Given the description of an element on the screen output the (x, y) to click on. 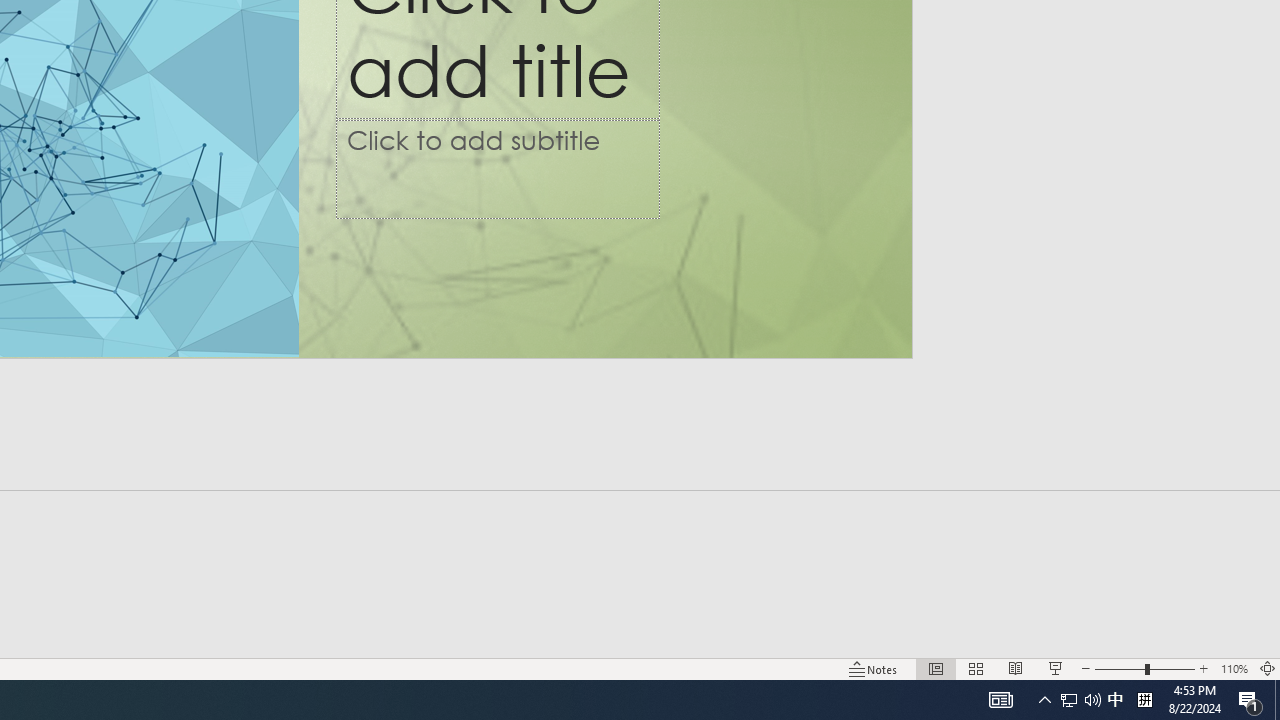
Zoom 110% (1234, 668)
